Given the description of an element on the screen output the (x, y) to click on. 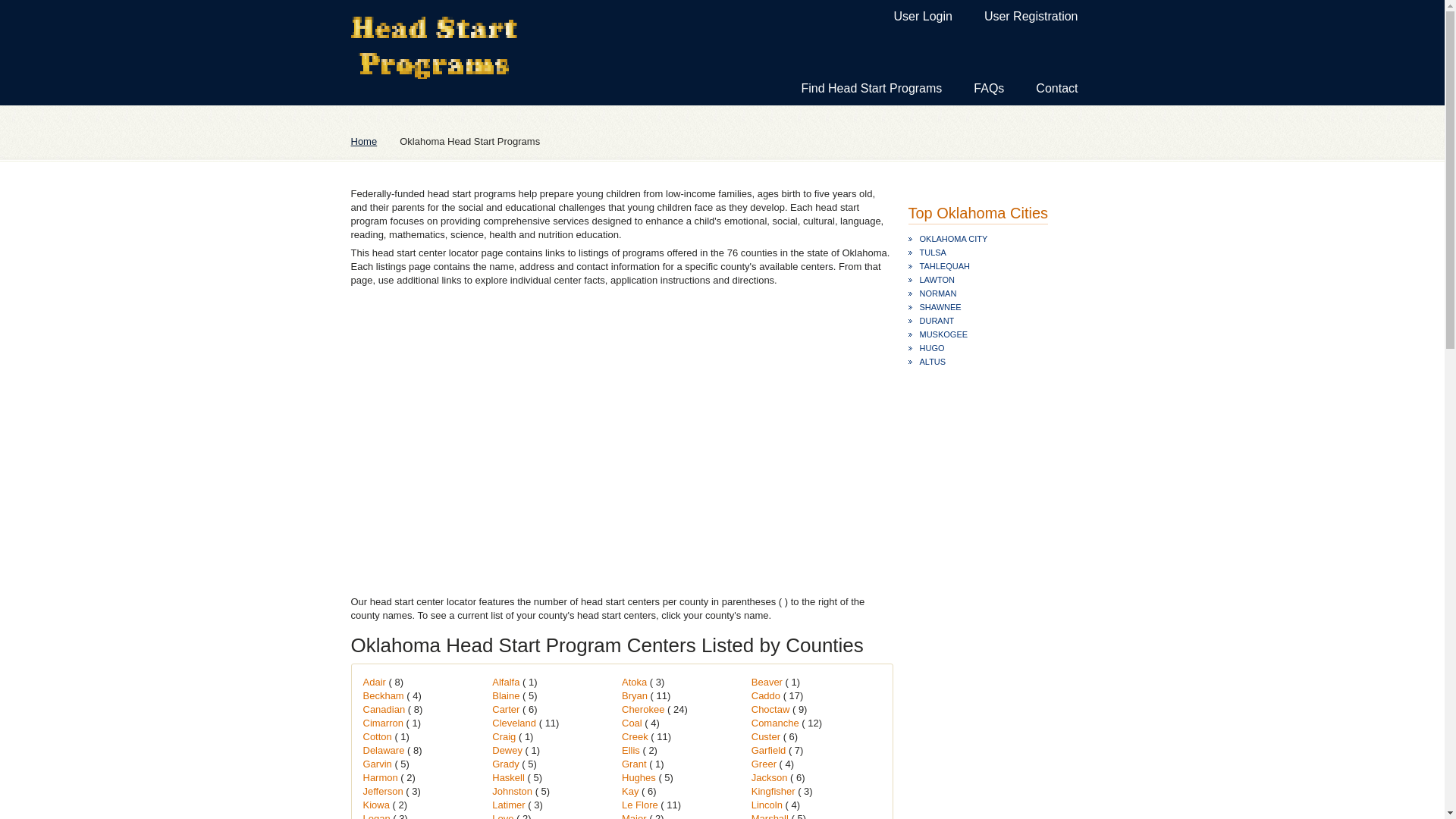
Bryan (635, 695)
Comanche (776, 722)
Find Head Start Centers in SHAWNEE (983, 306)
Craig (505, 736)
Ellis (631, 749)
Creek (635, 736)
User Login (923, 16)
Find Head Start Centers in ALTUS (983, 361)
Beckham (384, 695)
Cherokee (643, 708)
